Given the description of an element on the screen output the (x, y) to click on. 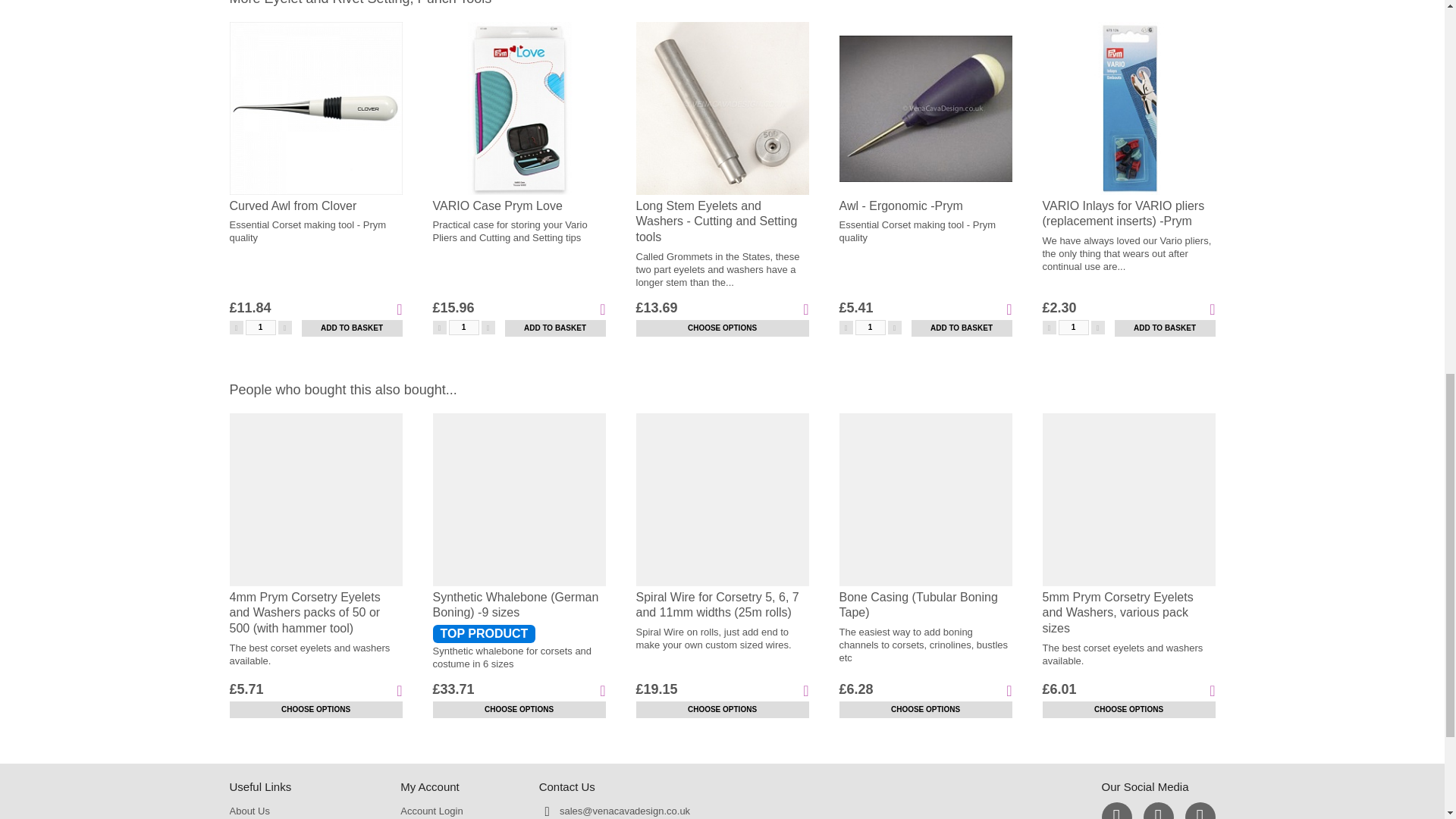
Add To Basket (352, 328)
Choose Options (1128, 709)
Choose Options (314, 709)
1 (870, 327)
Choose Options (721, 328)
Add To Basket (961, 328)
1 (261, 327)
Add To Basket (1165, 328)
Choose Options (721, 709)
1 (463, 327)
